Given the description of an element on the screen output the (x, y) to click on. 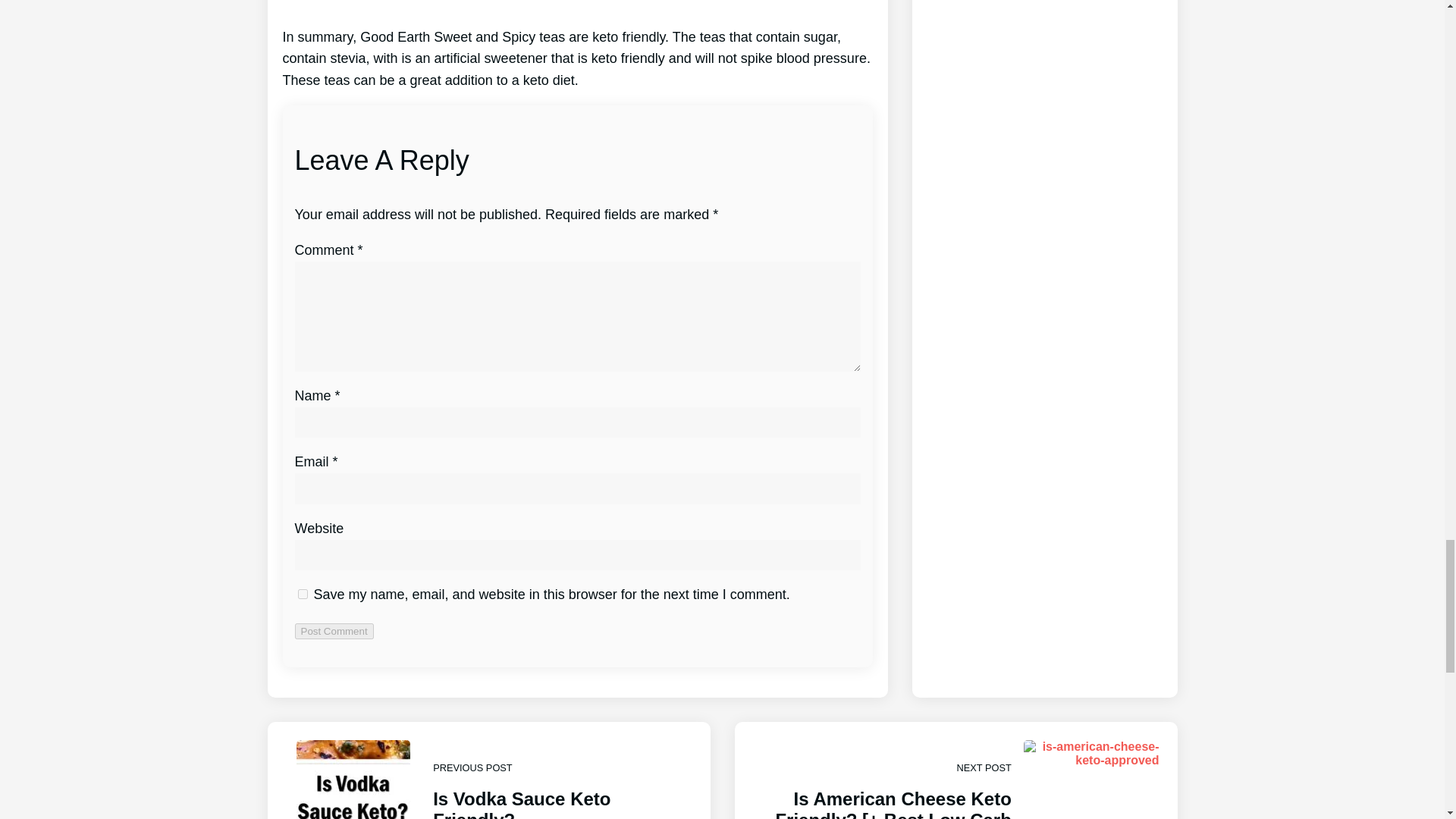
Post Comment (333, 631)
Is Vodka Sauce Keto Friendly? 2 (353, 779)
yes (302, 593)
Post Comment (333, 631)
